Given the description of an element on the screen output the (x, y) to click on. 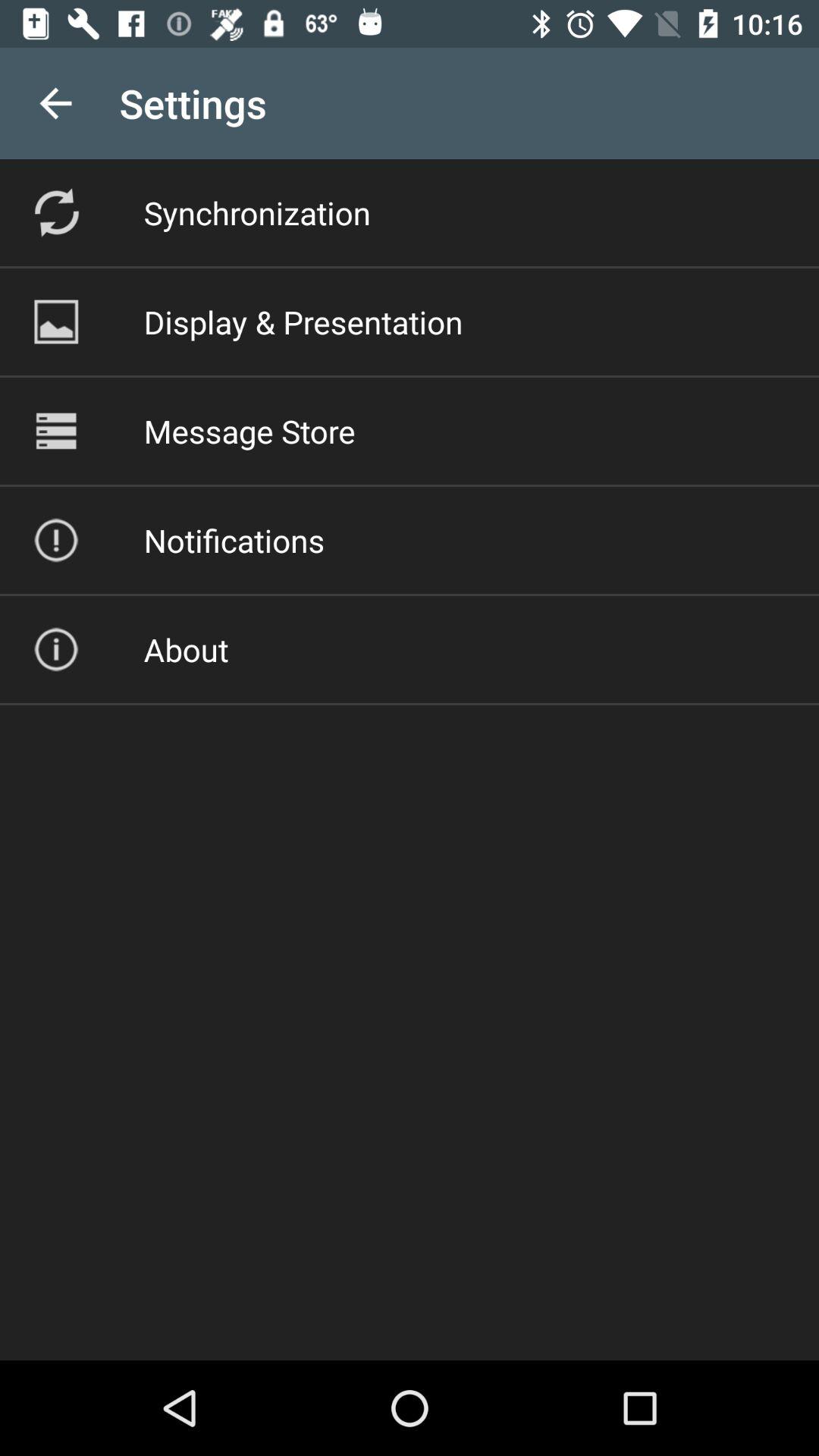
click item below display & presentation (249, 430)
